Given the description of an element on the screen output the (x, y) to click on. 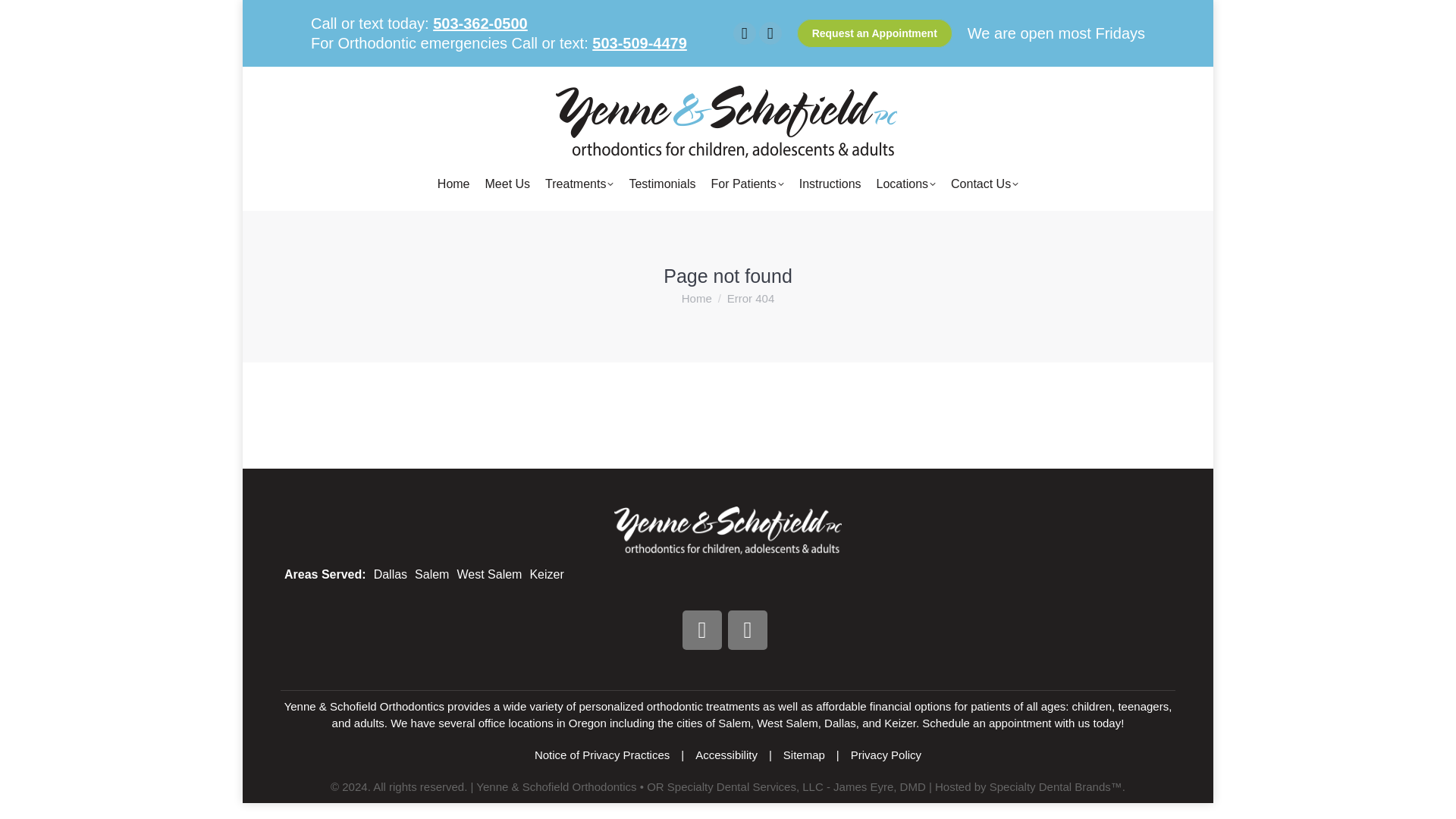
503-362-0500 (479, 23)
Facebook page opens in new window (744, 33)
Instagram page opens in new window (769, 33)
Facebook page opens in new window (744, 33)
Home (696, 297)
For Patients (746, 183)
Instagram (747, 630)
Instagram page opens in new window (769, 33)
Testimonials (661, 183)
Request an Appointment (874, 32)
Home (453, 183)
Facebook (702, 630)
503-509-4479 (639, 43)
Meet Us (507, 183)
Treatments (579, 183)
